Given the description of an element on the screen output the (x, y) to click on. 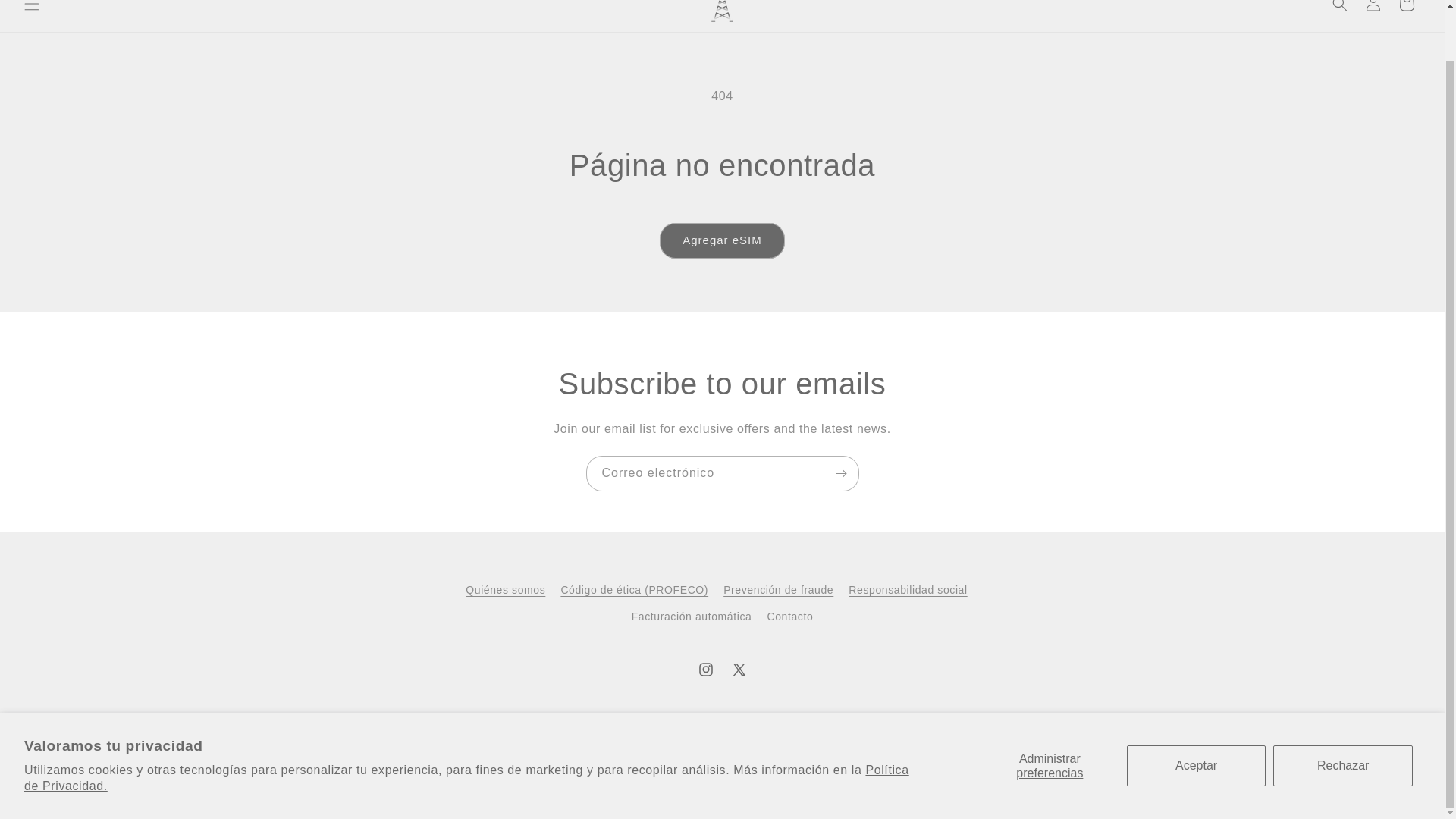
Contacto (789, 616)
Agregar eSIM (721, 240)
Carrito (1406, 10)
Administrar preferencias (1049, 711)
Responsabilidad social (907, 590)
Todos los derechos reservados. (611, 795)
Rechazar (1342, 711)
Instagram (705, 669)
Aceptar (1196, 711)
